Given the description of an element on the screen output the (x, y) to click on. 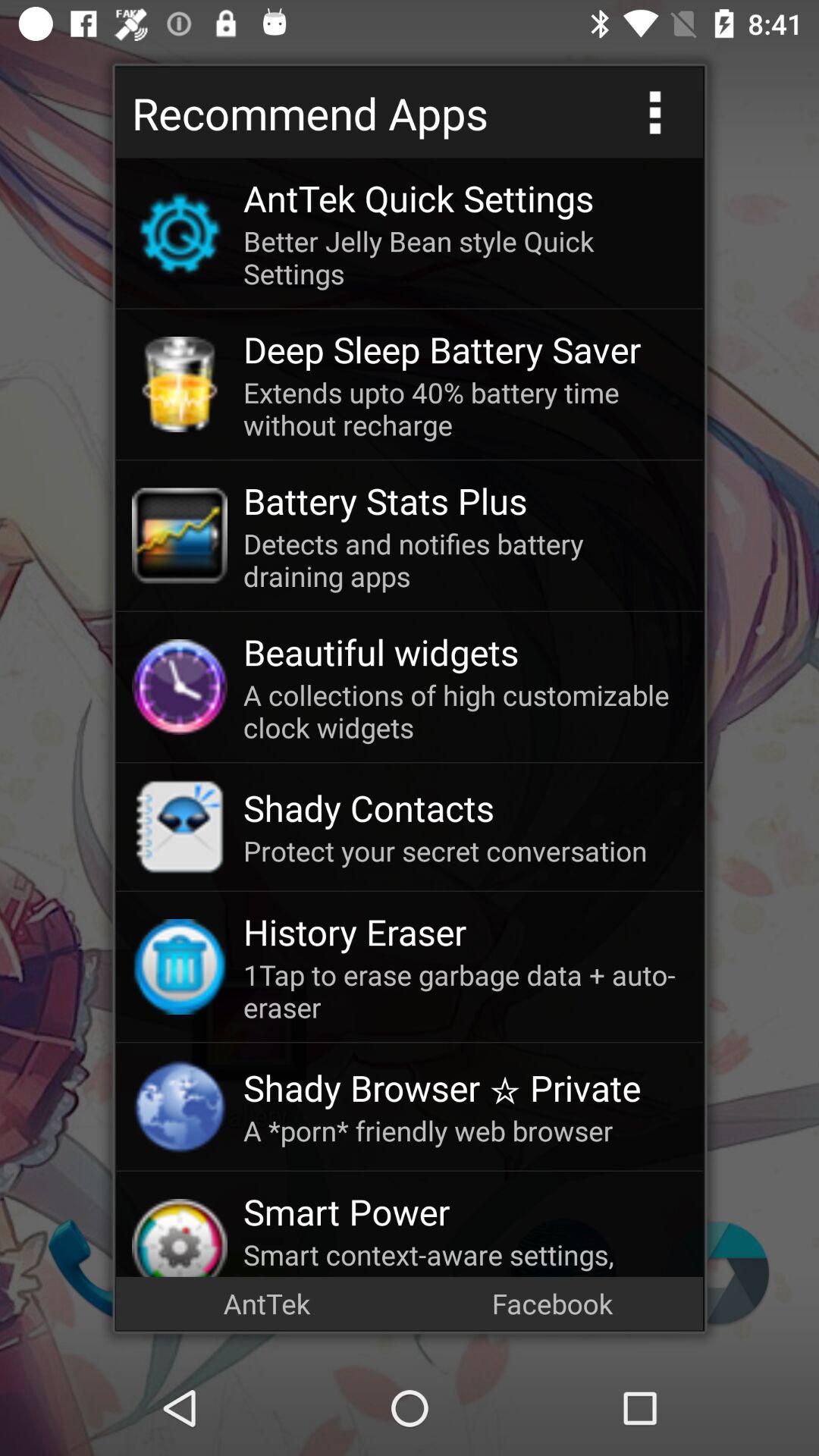
open 1tap to erase item (465, 991)
